Given the description of an element on the screen output the (x, y) to click on. 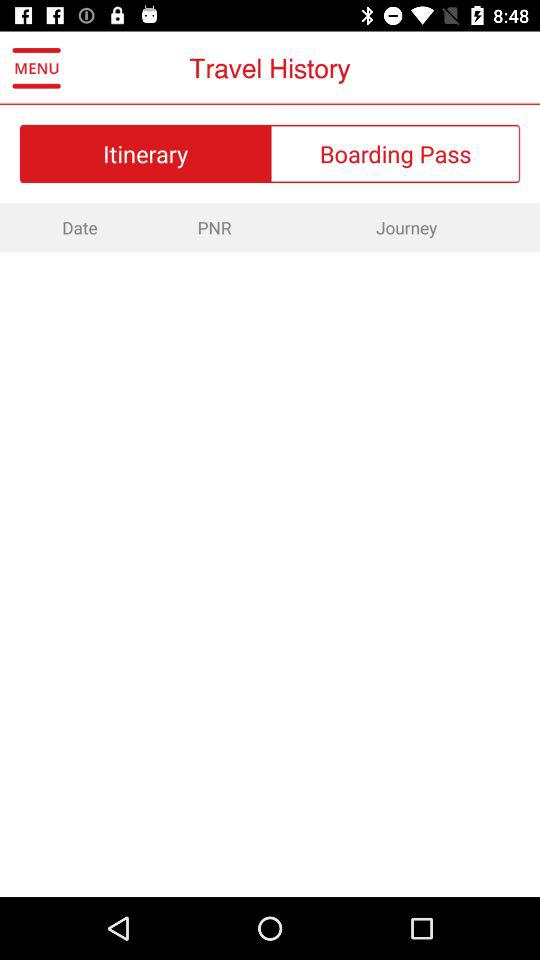
jump to itinerary (145, 153)
